Given the description of an element on the screen output the (x, y) to click on. 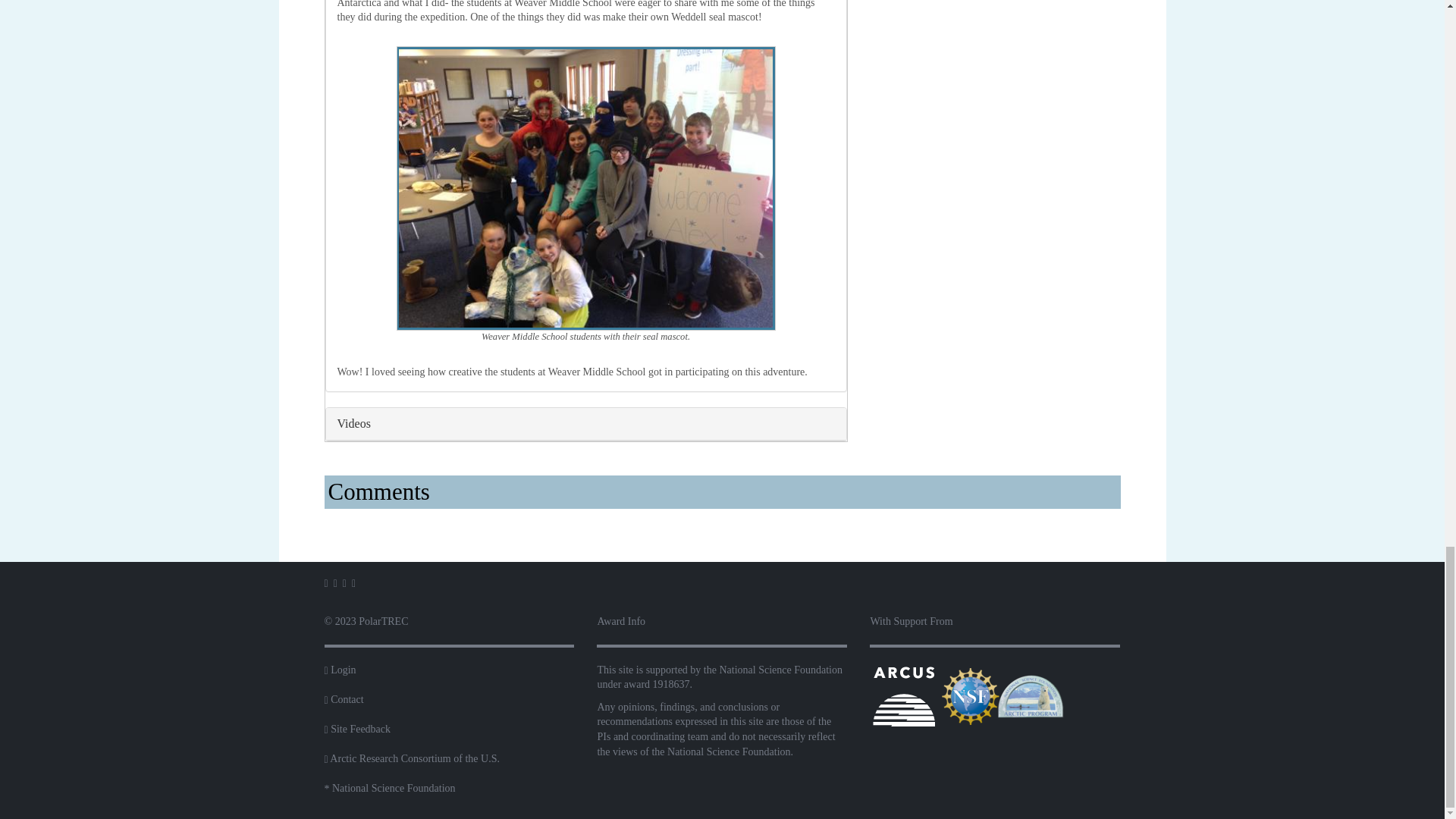
ARCUS (903, 695)
User Login (342, 669)
Weaver Middle School students with their seal mascot. (585, 187)
ARCUS (903, 696)
